Given the description of an element on the screen output the (x, y) to click on. 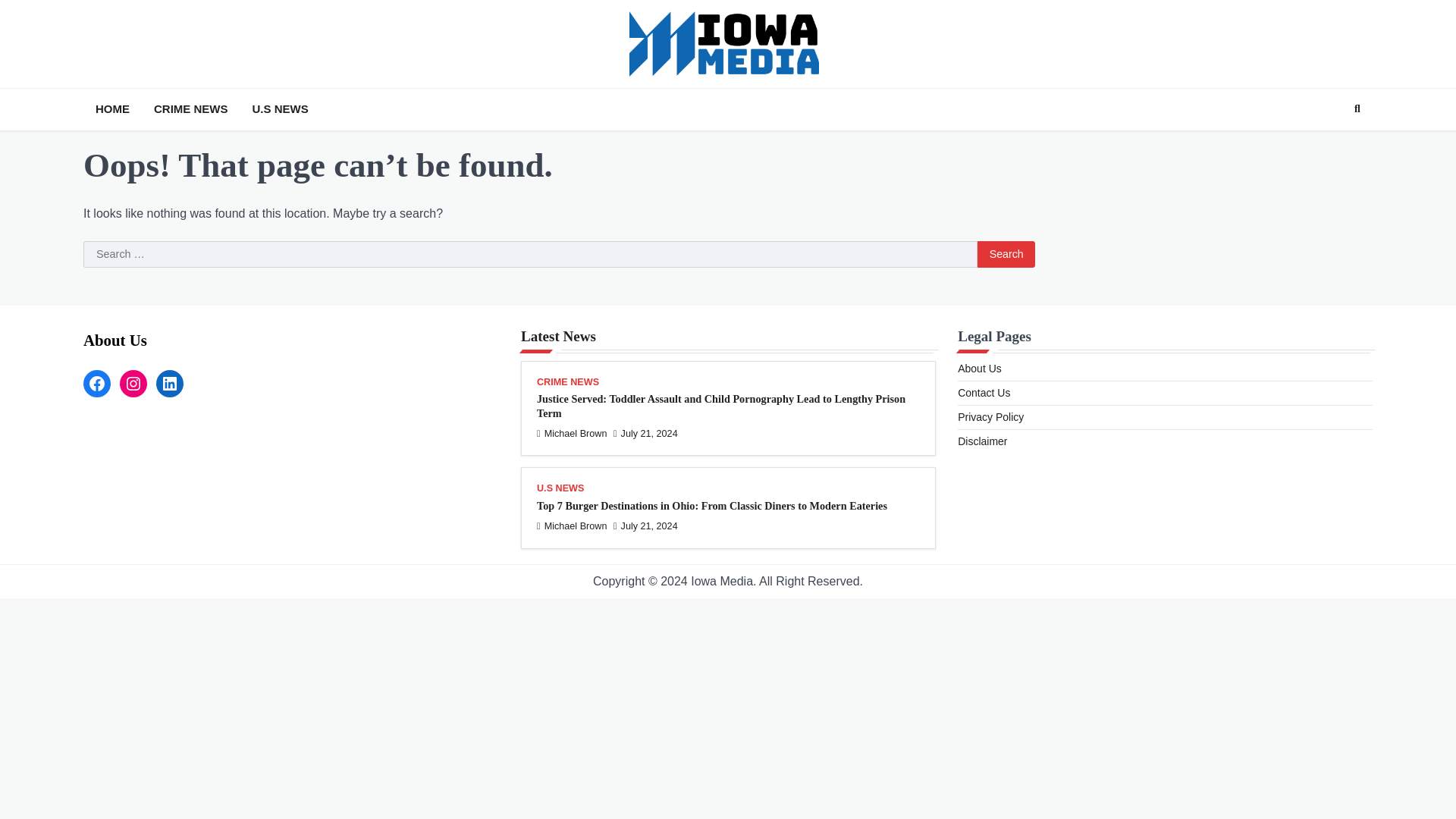
Search (1005, 254)
About Us (979, 368)
Search (1329, 144)
U.S NEWS (280, 108)
U.S NEWS (560, 489)
LinkedIn (169, 383)
Michael Brown (572, 433)
Michael Brown (572, 525)
Privacy Policy (990, 417)
Disclaimer (982, 440)
Search (1356, 108)
Contact Us (984, 392)
July 21, 2024 (645, 433)
